Given the description of an element on the screen output the (x, y) to click on. 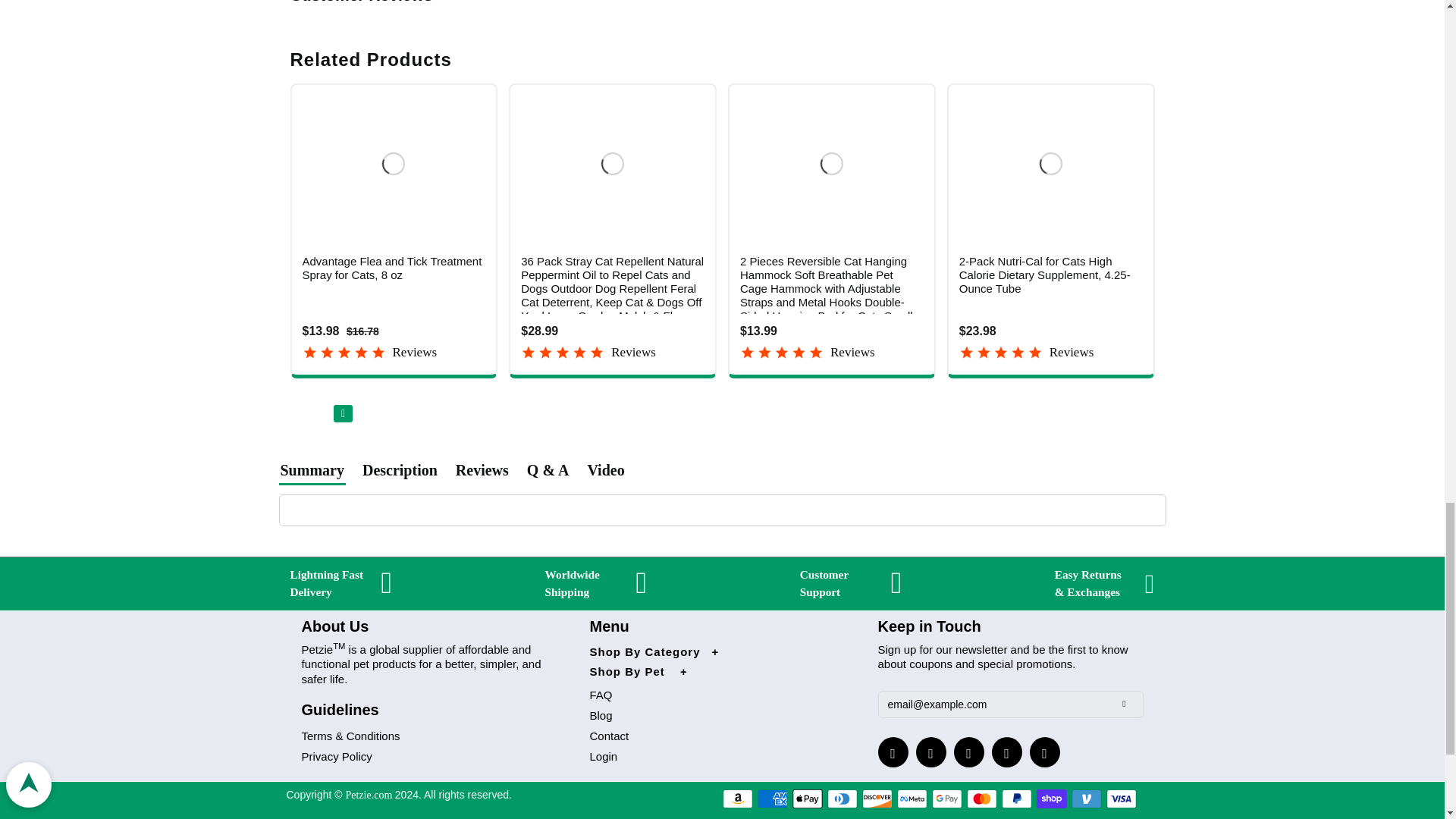
Amazon (737, 798)
Meta Pay (911, 798)
PayPal (1016, 798)
Discover (876, 798)
Google Pay (946, 798)
American Express (772, 798)
Mastercard (981, 798)
Apple Pay (807, 798)
Venmo (1086, 798)
Diners Club (842, 798)
Shop Pay (1051, 798)
Visa (1121, 798)
